Given the description of an element on the screen output the (x, y) to click on. 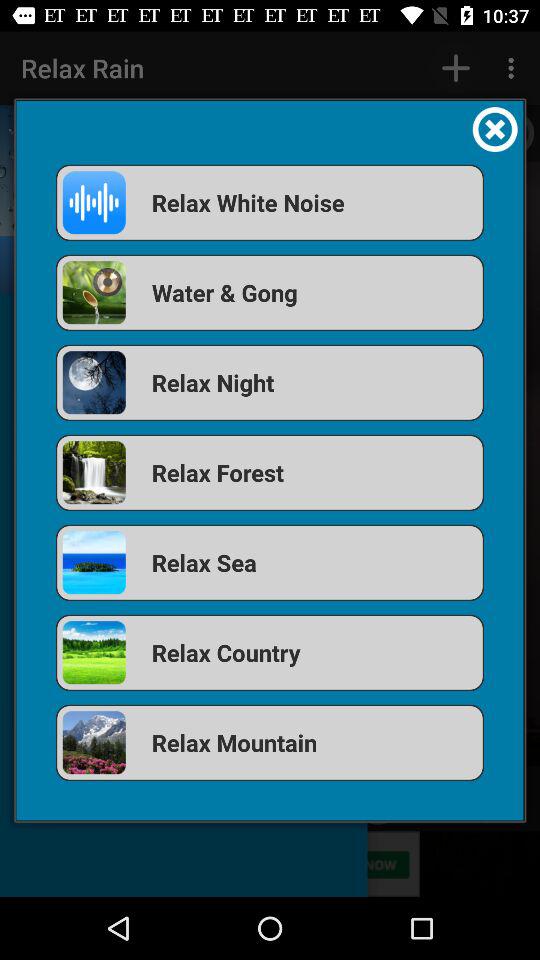
open item above relax forest icon (269, 382)
